Given the description of an element on the screen output the (x, y) to click on. 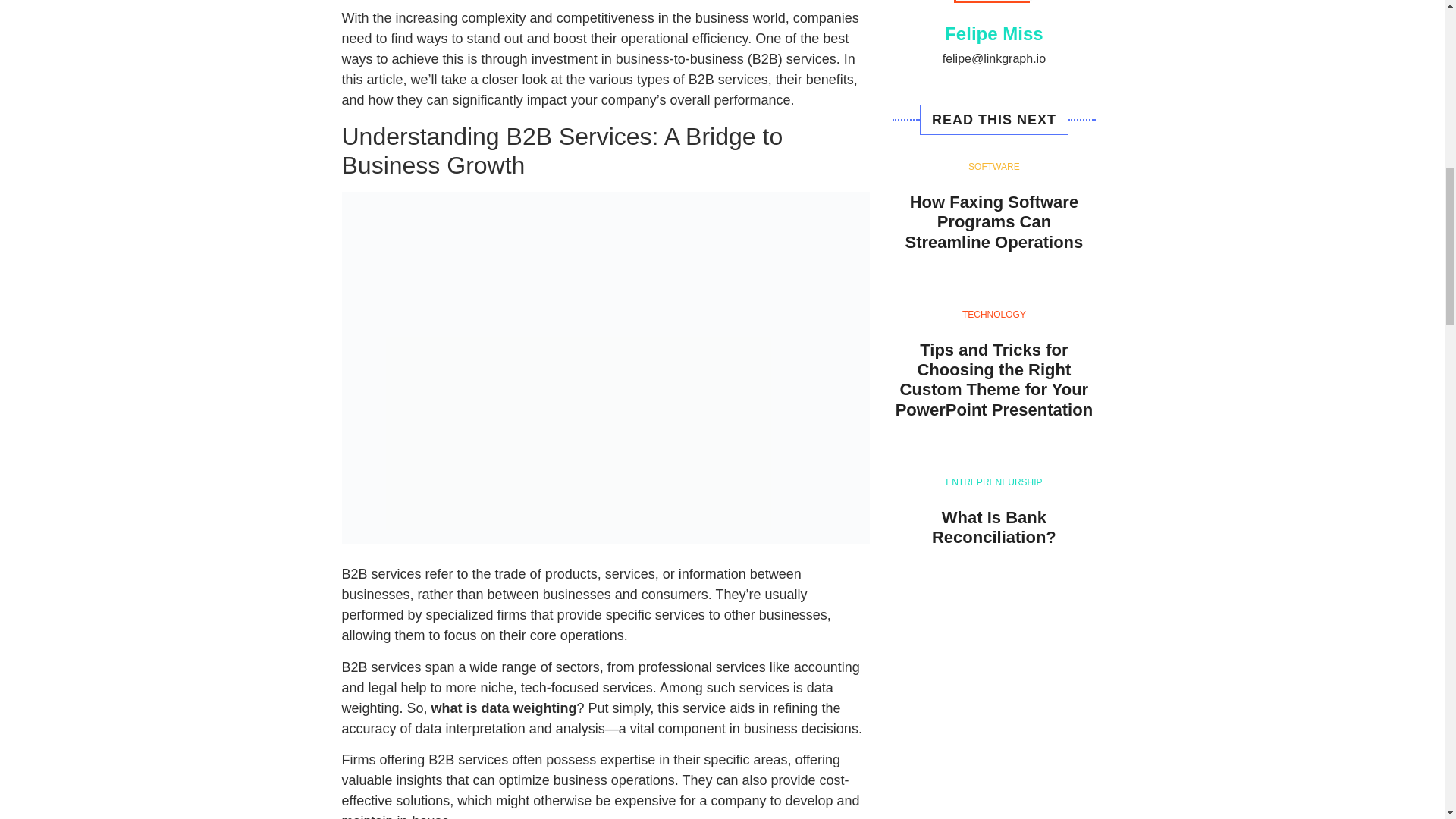
What Is Bank Reconciliation? (994, 527)
How Faxing Software Programs Can Streamline Operations (994, 221)
what is data weighting (503, 708)
ENTREPRENEURSHIP (993, 481)
SOFTWARE (994, 166)
TECHNOLOGY (994, 314)
Felipe Miss (993, 34)
